Given the description of an element on the screen output the (x, y) to click on. 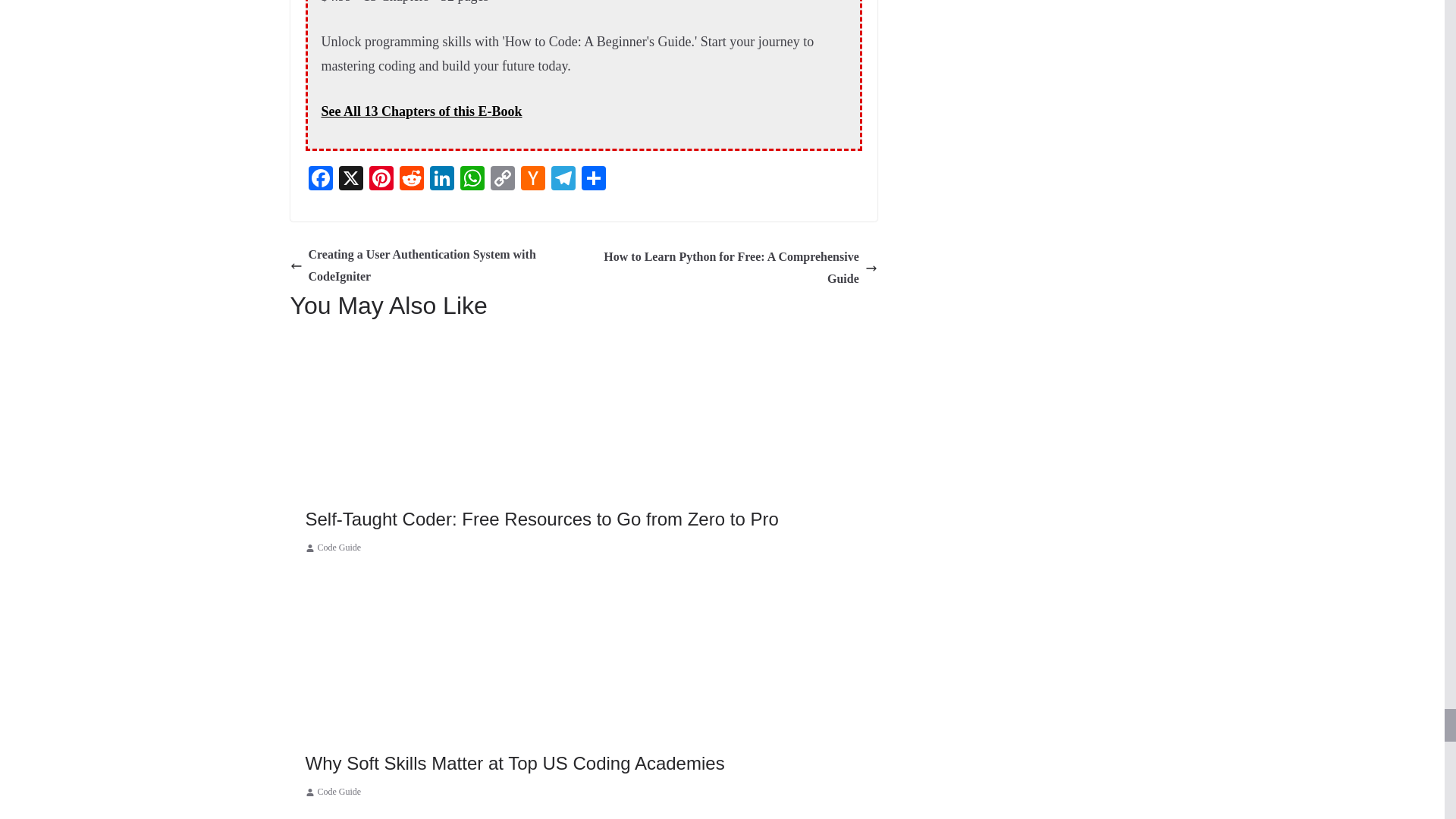
Pinterest (380, 180)
Facebook (319, 180)
Copy Link (501, 180)
WhatsApp (471, 180)
LinkedIn (441, 180)
Hacker News (531, 180)
Reddit (411, 180)
See All 13 Chapters of this E-Book (421, 111)
X (349, 180)
LinkedIn (441, 180)
X (349, 180)
Pinterest (380, 180)
Facebook (319, 180)
Telegram (562, 180)
Reddit (411, 180)
